Given the description of an element on the screen output the (x, y) to click on. 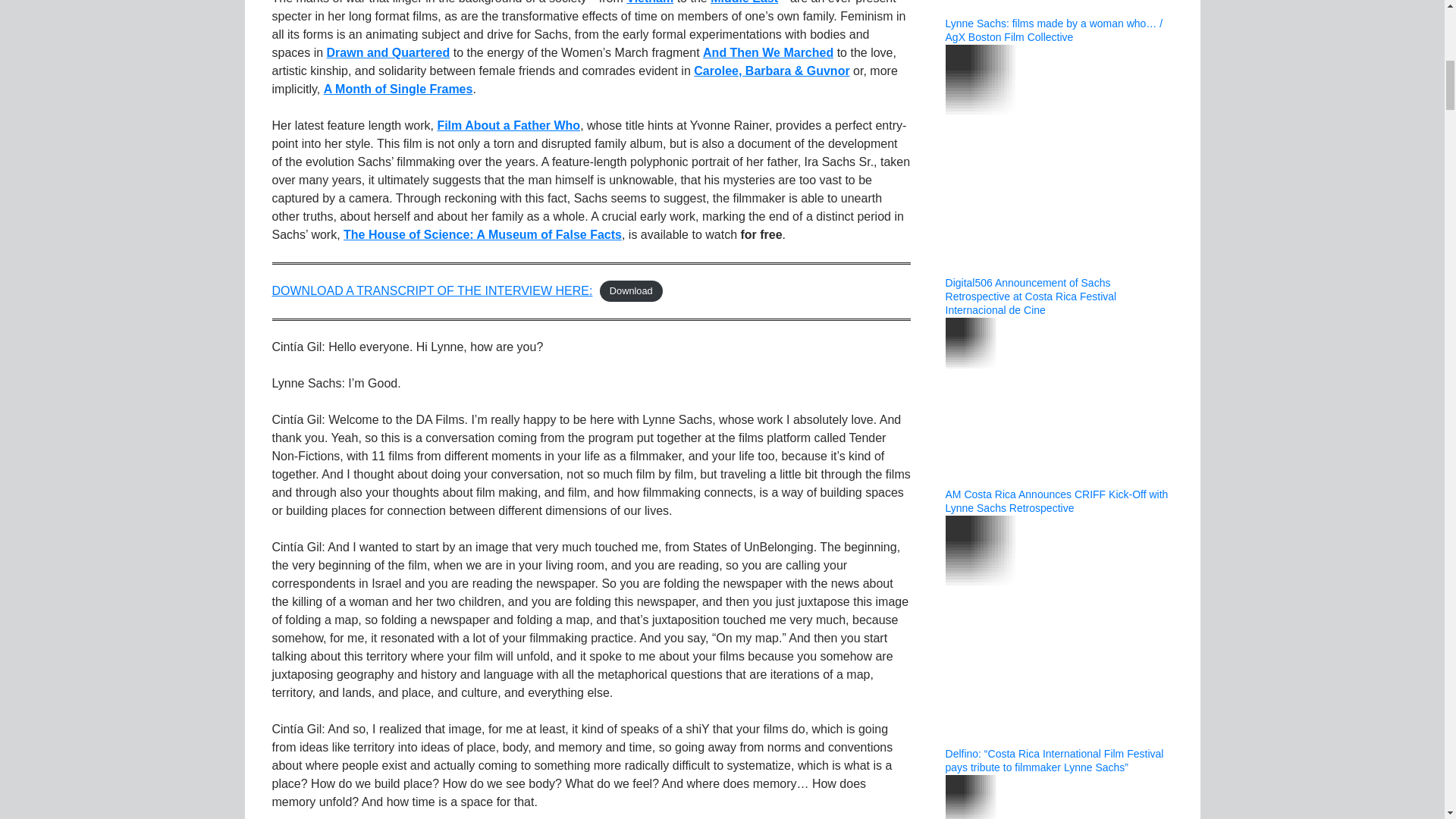
Vietnam (649, 2)
The House of Science: A Museum of False Facts (482, 234)
Download (630, 291)
Drawn and Quartered (387, 51)
Middle East (743, 2)
DOWNLOAD A TRANSCRIPT OF THE INTERVIEW HERE: (431, 290)
And Then We Marched (767, 51)
Film About a Father Who (507, 124)
